Given the description of an element on the screen output the (x, y) to click on. 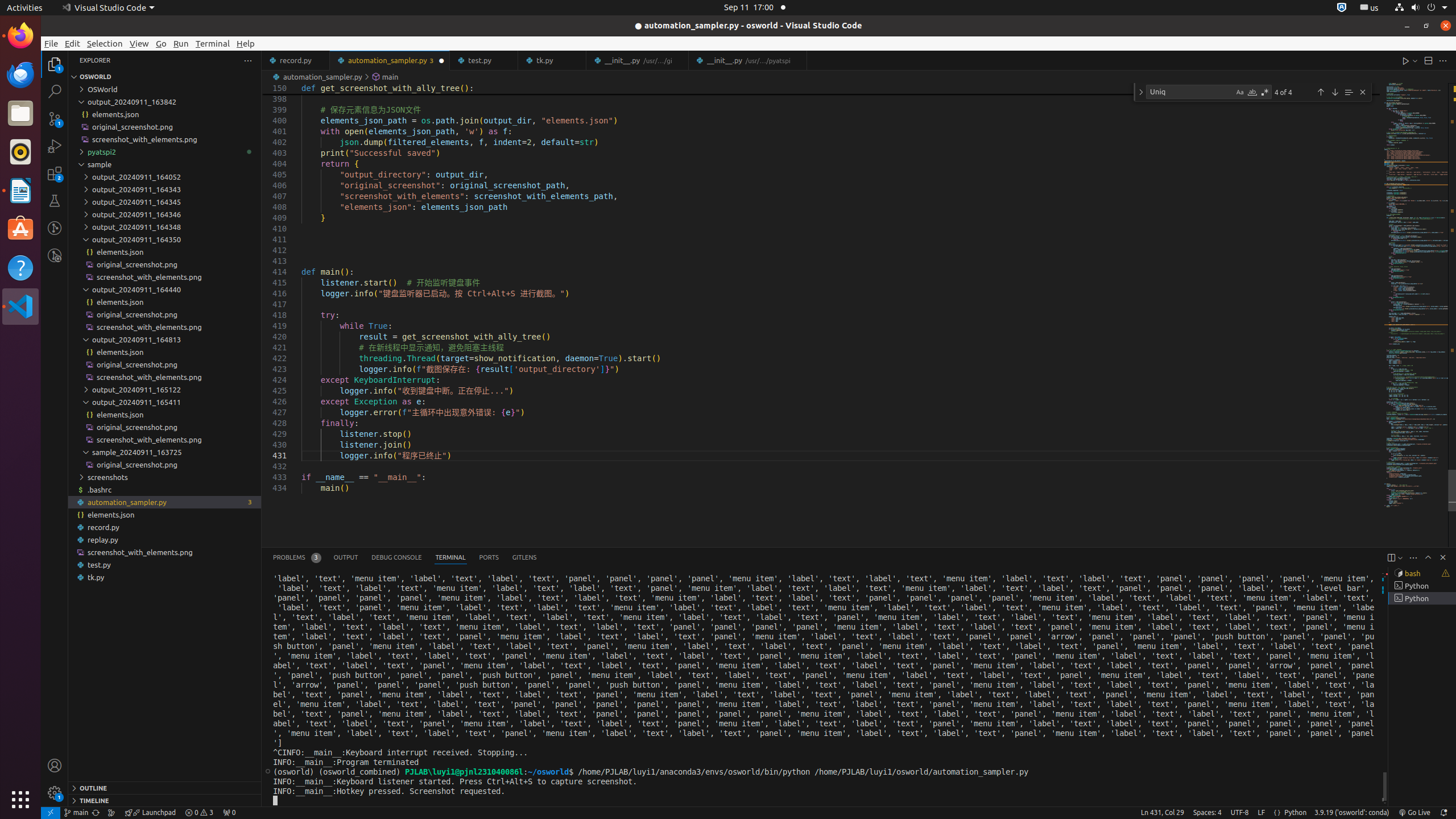
output_20240911_164343 Element type: tree-item (164, 189)
Terminal 2 Python Element type: list-item (1422, 585)
Debug Console (Ctrl+Shift+Y) Element type: page-tab (396, 557)
More Actions... Element type: push-button (1442, 60)
